Given the description of an element on the screen output the (x, y) to click on. 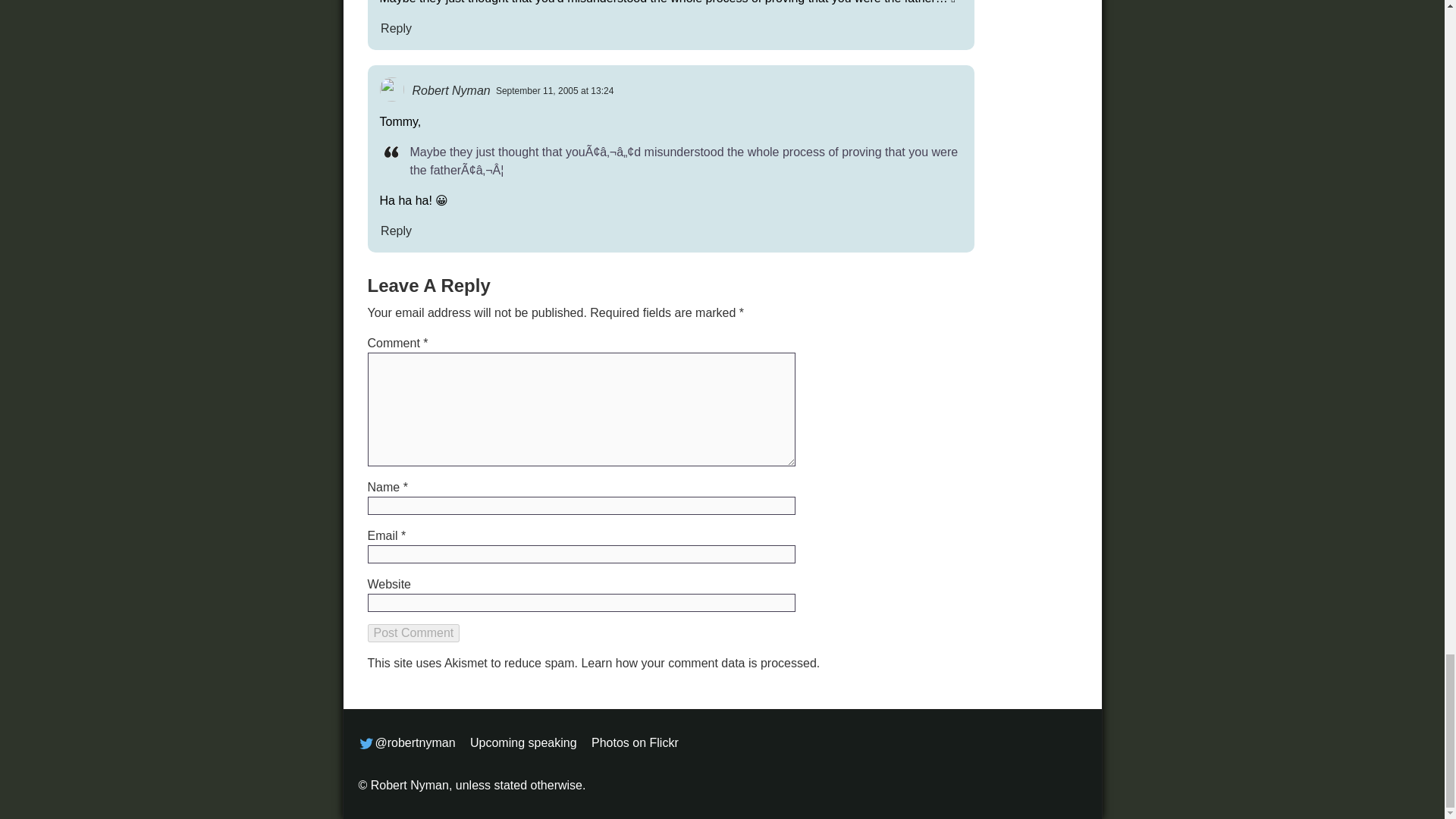
Post Comment (413, 633)
Robert Nyman (451, 89)
Reply (395, 28)
